Given the description of an element on the screen output the (x, y) to click on. 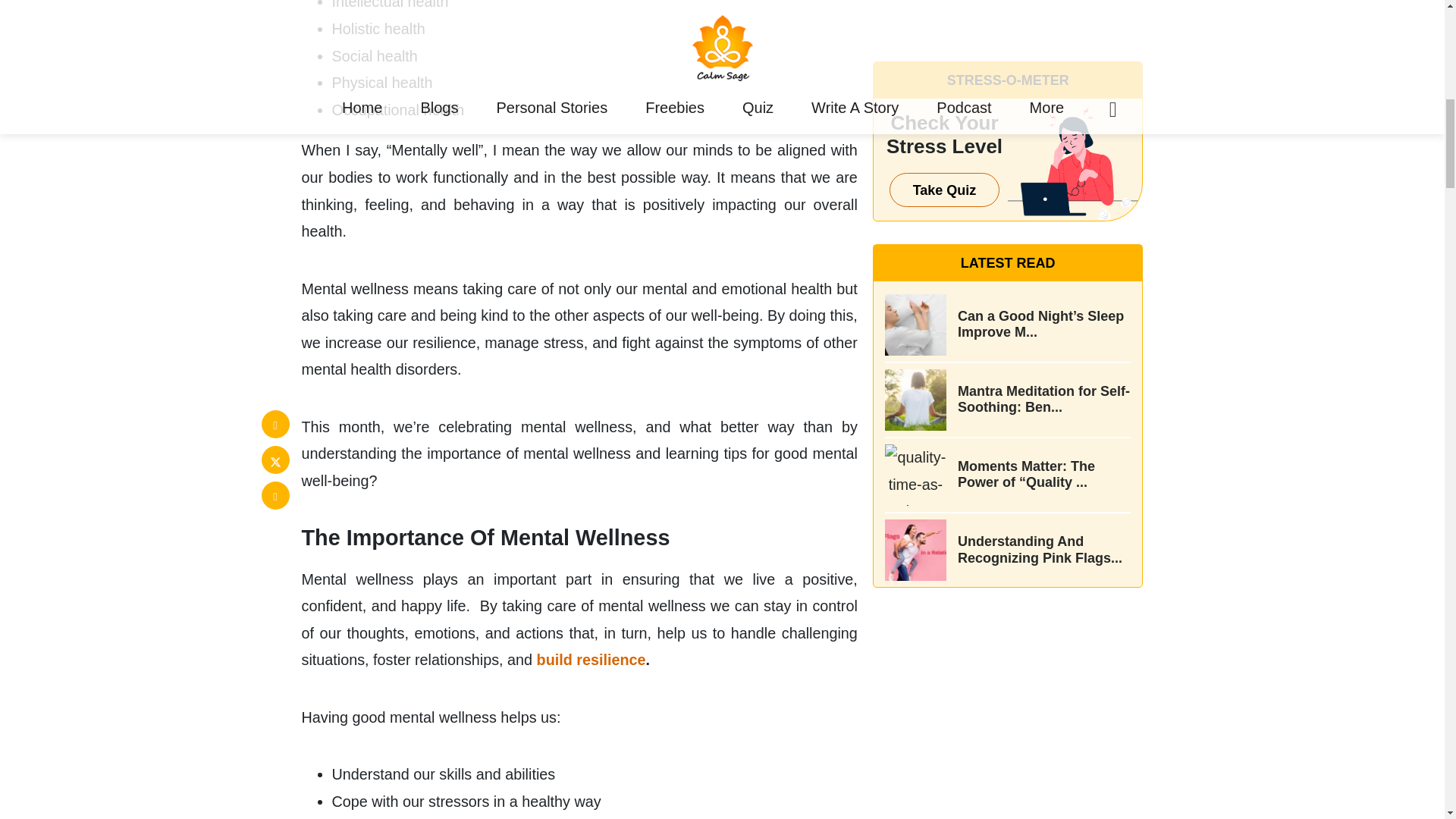
build resilience (591, 659)
